Given the description of an element on the screen output the (x, y) to click on. 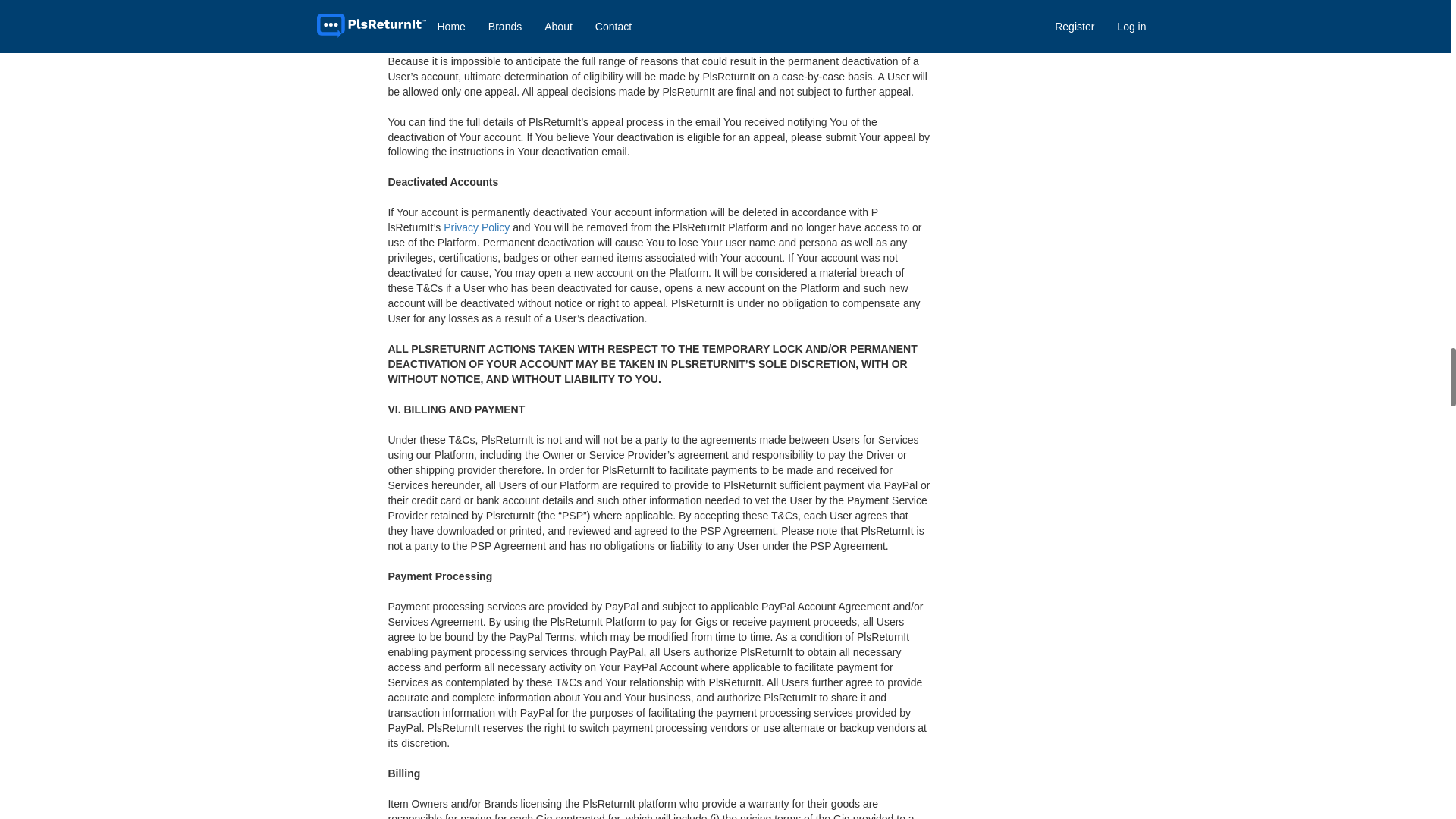
Privacy Policy (476, 227)
